Given the description of an element on the screen output the (x, y) to click on. 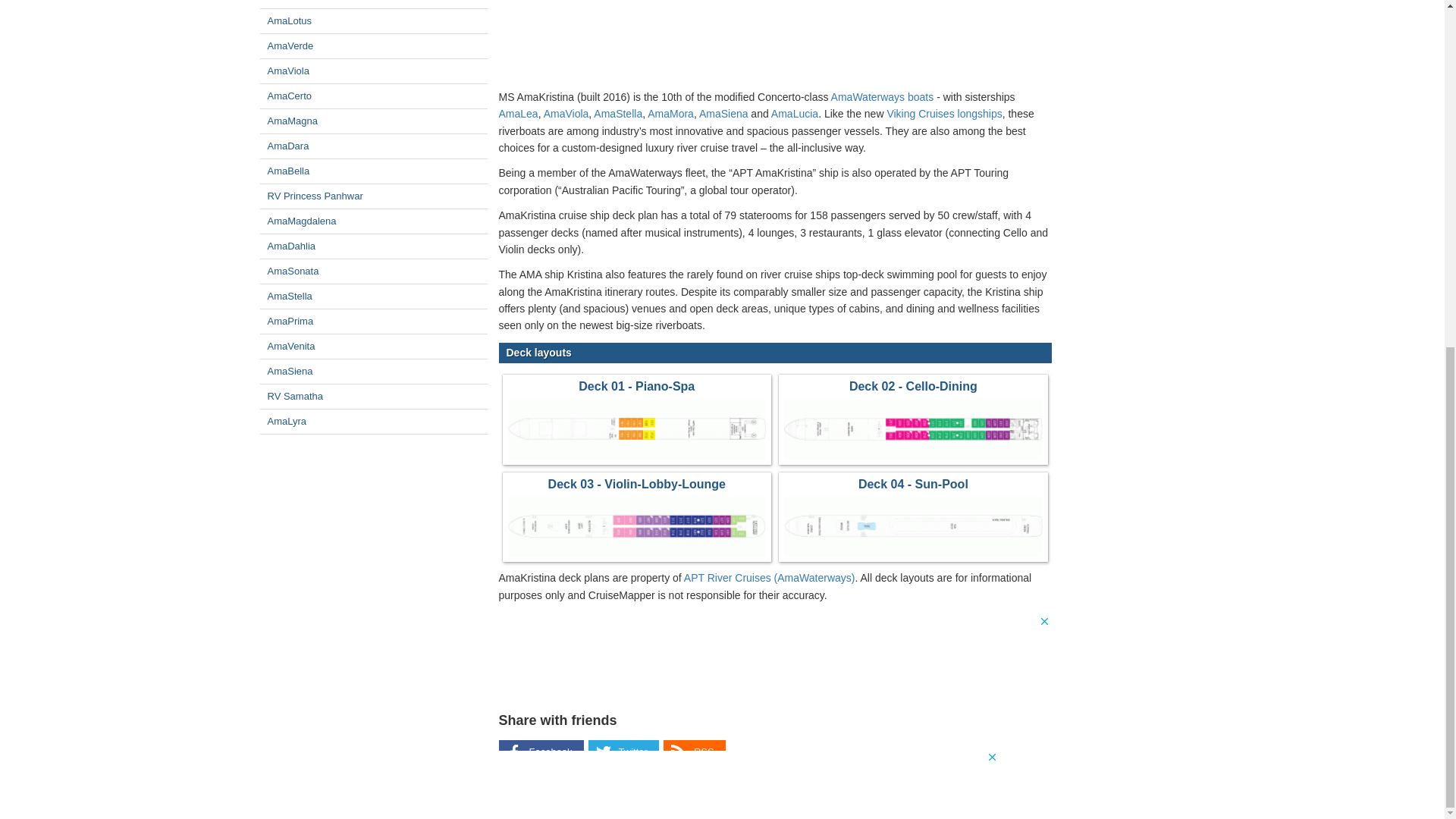
AmaLea (518, 113)
AmaKristina Deck 04 - Sun-Pool (913, 529)
AmaWaterways boats (882, 96)
3rd party ad content (721, 186)
AmaLucia (794, 113)
AmaKristina Deck 02 - Cello-Dining (913, 431)
AmaSiena (723, 113)
AmaViola (566, 113)
3rd party ad content (774, 27)
AmaStella (618, 113)
AmaKristina Deck 01 - Piano-Spa (636, 431)
AmaMora (670, 113)
AmaKristina Deck 03 - Violin-Lobby-Lounge (636, 529)
3rd party ad content (775, 649)
Viking Cruises longships (943, 113)
